Given the description of an element on the screen output the (x, y) to click on. 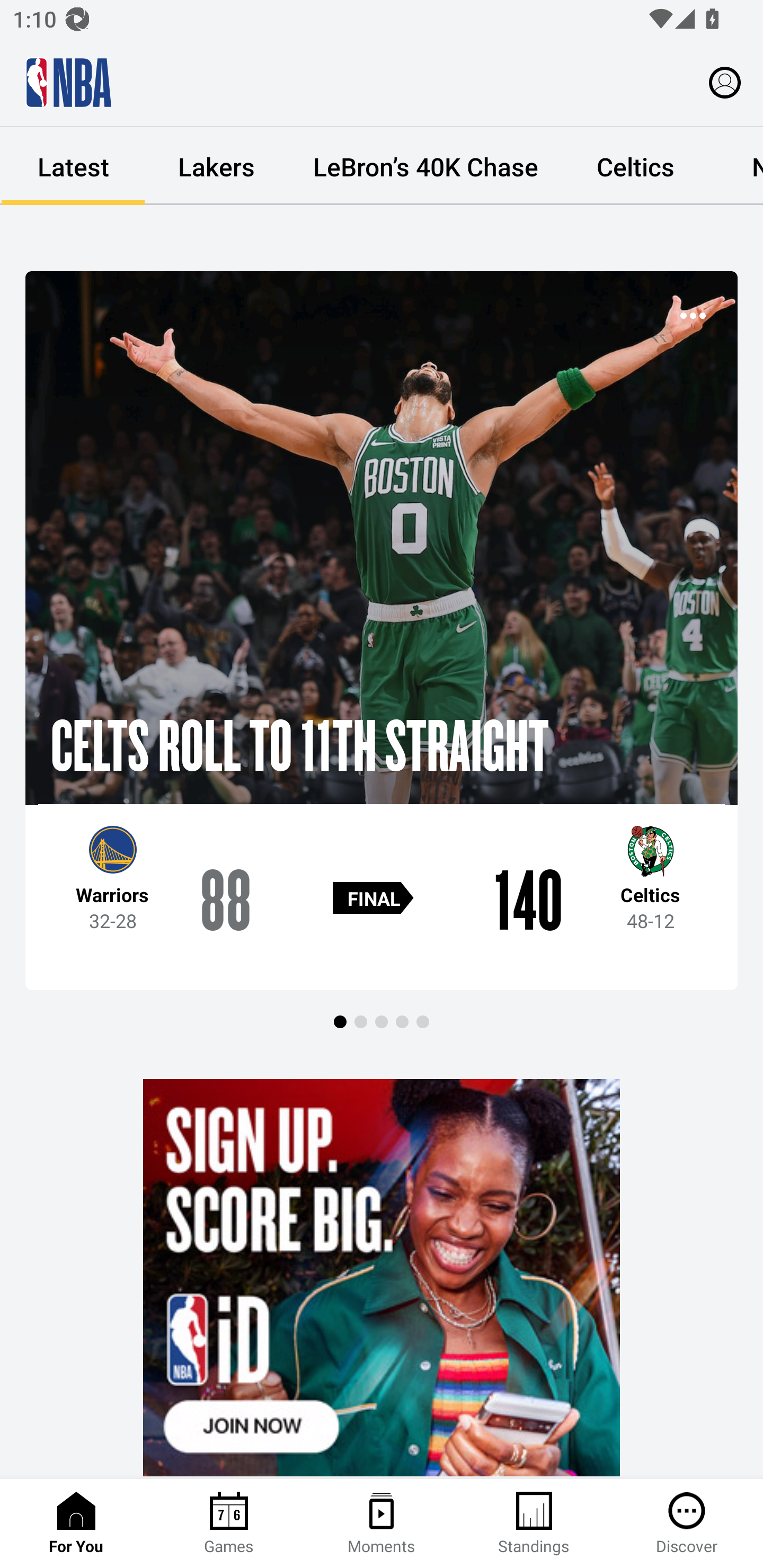
Profile (724, 81)
Lakers (215, 166)
LeBron’s 40K Chase (425, 166)
Celtics (634, 166)
Games (228, 1523)
Moments (381, 1523)
Standings (533, 1523)
Discover (686, 1523)
